Given the description of an element on the screen output the (x, y) to click on. 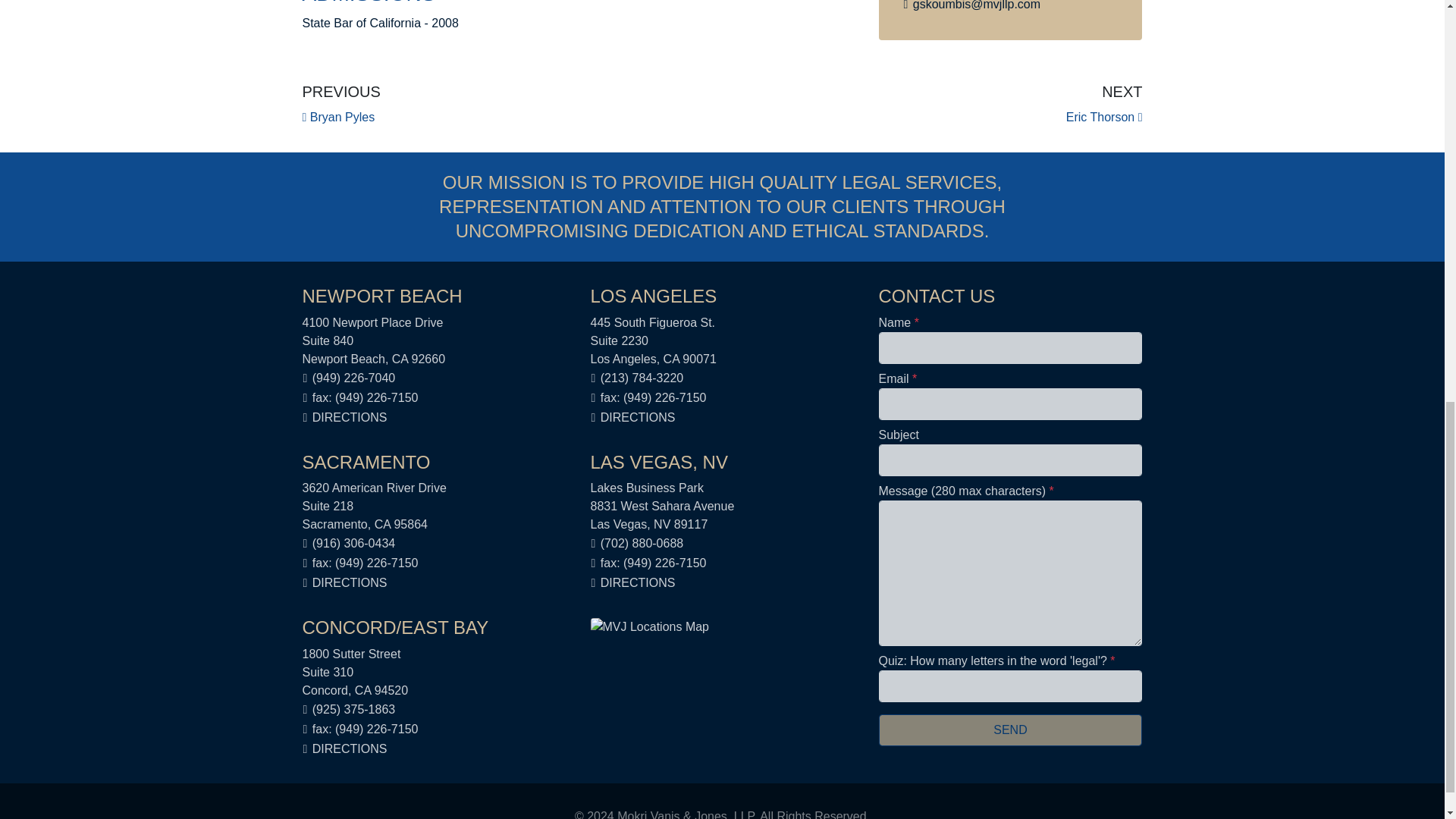
SEND (1009, 730)
DIRECTIONS (1103, 102)
DIRECTIONS (637, 417)
DIRECTIONS (350, 417)
DIRECTIONS (350, 748)
SEND (340, 102)
DIRECTIONS (637, 582)
